Given the description of an element on the screen output the (x, y) to click on. 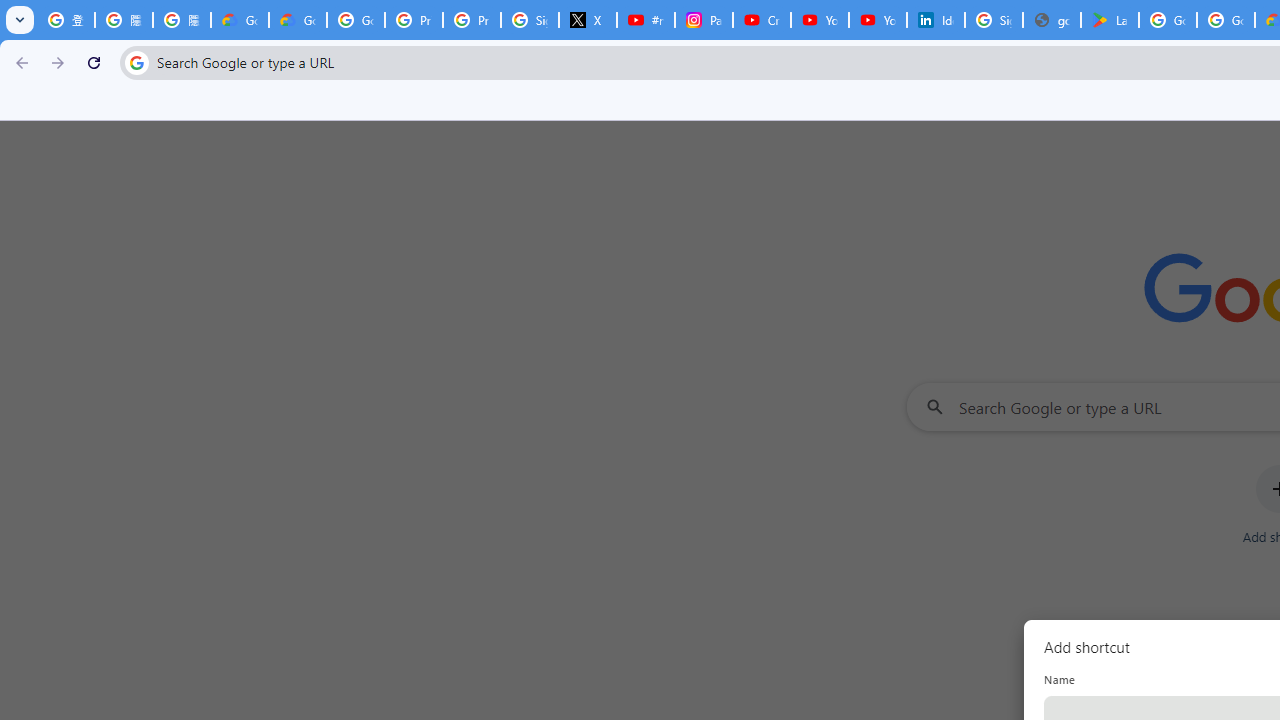
Privacy Help Center - Policies Help (471, 20)
X (587, 20)
Sign in - Google Accounts (529, 20)
YouTube Culture & Trends - YouTube Top 10, 2021 (877, 20)
Last Shelter: Survival - Apps on Google Play (1110, 20)
